Given the description of an element on the screen output the (x, y) to click on. 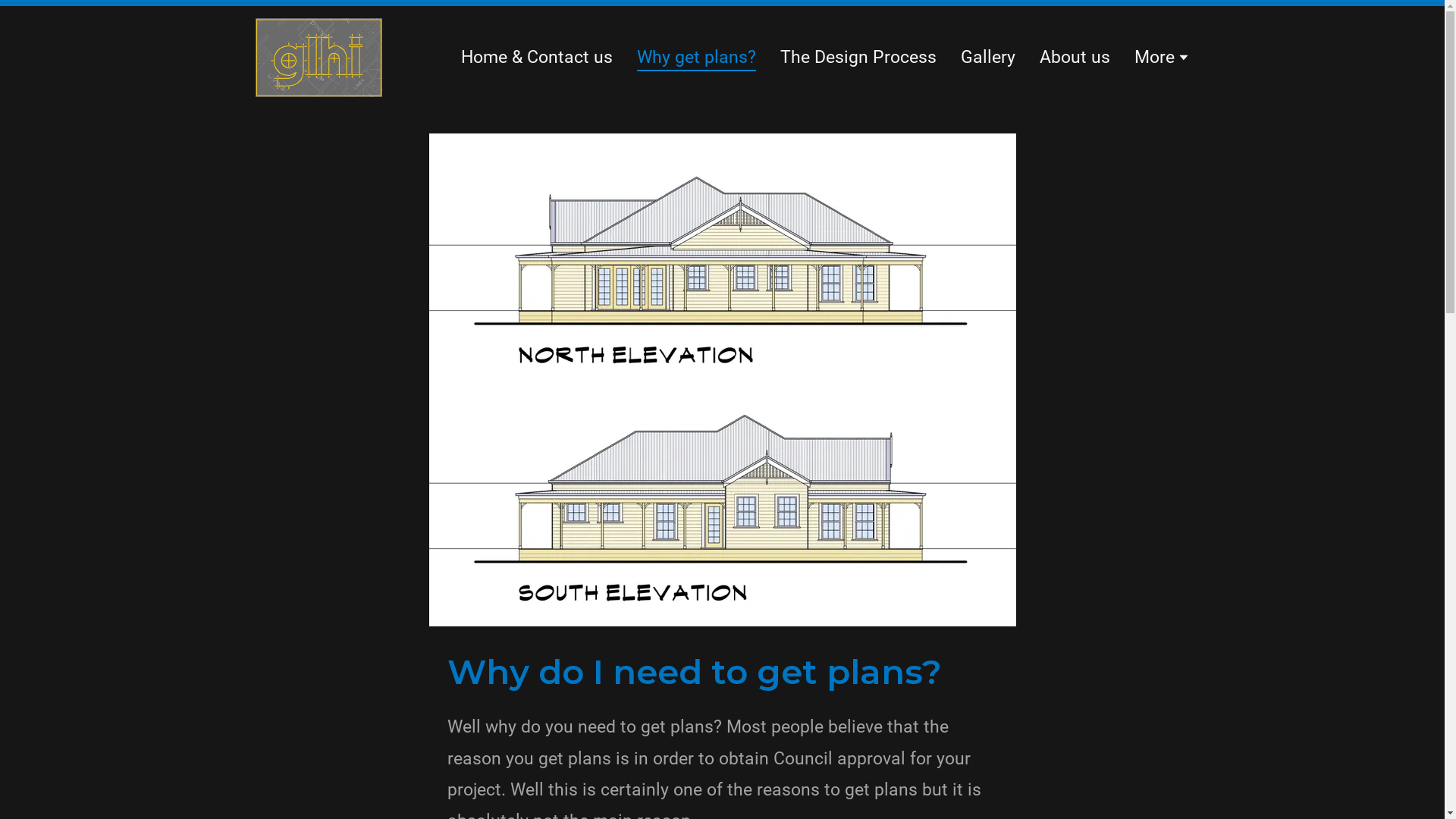
About us Element type: text (1073, 56)
Home & Contact us Element type: text (536, 56)
More Element type: text (1161, 56)
The Design Process Element type: text (857, 56)
Why get plans? Element type: text (696, 59)
great lakes home improvements Element type: hover (317, 56)
Gallery Element type: text (987, 56)
